Given the description of an element on the screen output the (x, y) to click on. 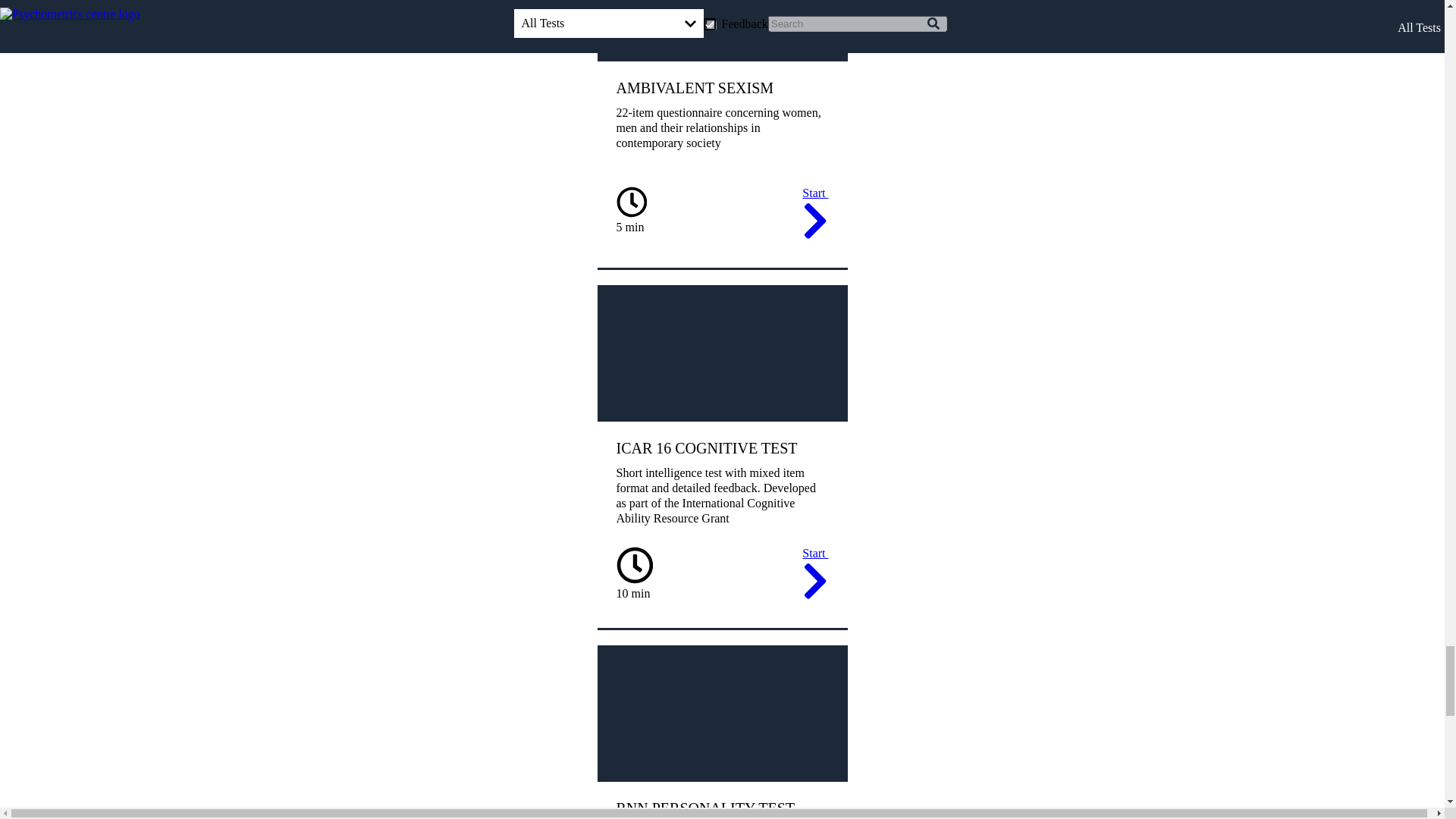
Start  (815, 576)
Start  (815, 215)
